Given the description of an element on the screen output the (x, y) to click on. 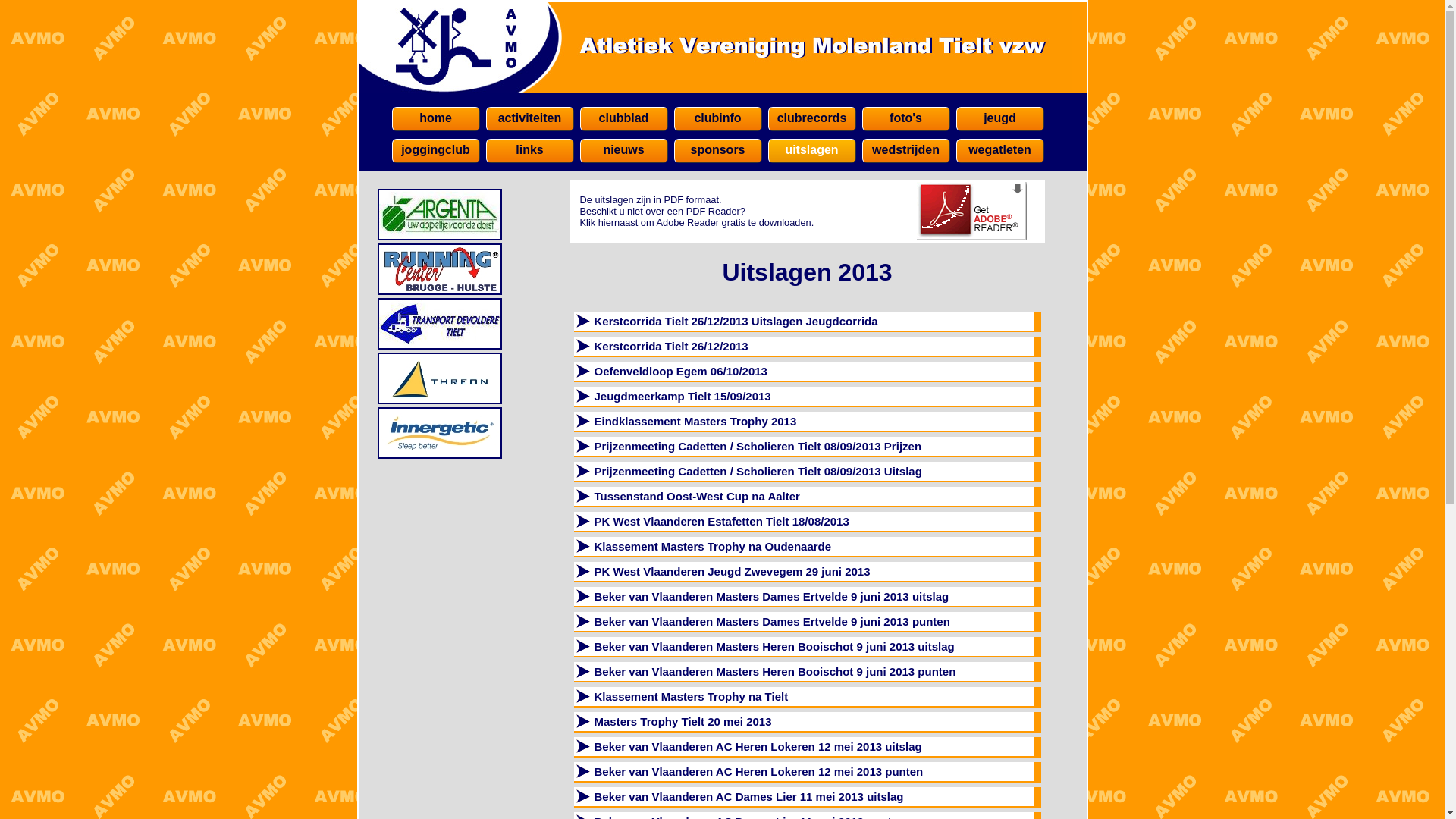
foto's Element type: text (905, 118)
clubrecords Element type: text (811, 118)
links Element type: text (529, 150)
clubinfo Element type: text (717, 118)
Beker van Vlaanderen AC Heren Lokeren 12 mei 2013 uitslag Element type: text (802, 746)
wegatleten Element type: text (999, 150)
Klassement Masters Trophy na Oudenaarde Element type: text (802, 546)
uitslagen Element type: text (811, 150)
nieuws Element type: text (623, 150)
Oefenveldloop Egem 06/10/2013 Element type: text (802, 371)
PK West Vlaanderen Estafetten Tielt 18/08/2013 Element type: text (802, 521)
sponsors Element type: text (717, 150)
Kerstcorrida Tielt 26/12/2013 Uitslagen Jeugdcorrida Element type: text (802, 321)
joggingclub Element type: text (435, 150)
Eindklassement Masters Trophy 2013 Element type: text (802, 421)
Klassement Masters Trophy na Tielt Element type: text (802, 696)
Jeugdmeerkamp Tielt 15/09/2013 Element type: text (802, 396)
wedstrijden Element type: text (905, 150)
Beker van Vlaanderen AC Heren Lokeren 12 mei 2013 punten Element type: text (802, 771)
clubblad Element type: text (623, 118)
Kerstcorrida Tielt 26/12/2013 Element type: text (802, 346)
Tussenstand Oost-West Cup na Aalter Element type: text (802, 496)
Masters Trophy Tielt 20 mei 2013 Element type: text (802, 721)
Beker van Vlaanderen AC Dames Lier 11 mei 2013 uitslag Element type: text (802, 796)
PK West Vlaanderen Jeugd Zwevegem 29 juni 2013 Element type: text (802, 571)
activiteiten Element type: text (529, 118)
home Element type: text (435, 118)
jeugd Element type: text (999, 118)
